Given the description of an element on the screen output the (x, y) to click on. 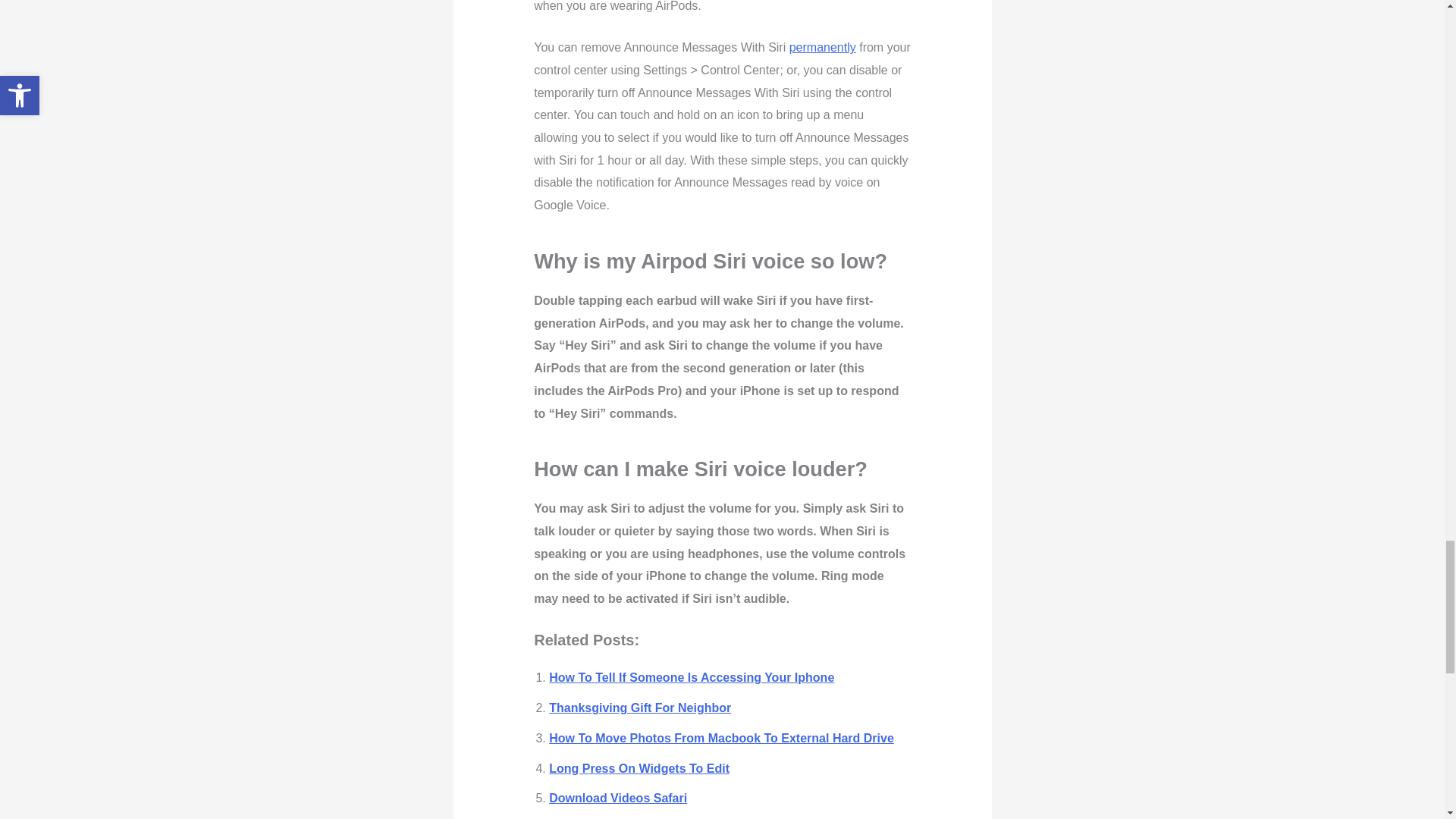
Download Videos Safari (617, 797)
How To Move Photos From Macbook To External Hard Drive (720, 738)
permanently (822, 47)
How To Tell If Someone Is Accessing Your Iphone (691, 676)
Download Videos Safari (617, 797)
Long Press On Widgets To Edit (638, 768)
How To Tell If Someone Is Accessing Your Iphone (691, 676)
Thanksgiving Gift For Neighbor (639, 707)
Thanksgiving Gift For Neighbor (639, 707)
Long Press On Widgets To Edit (638, 768)
